Given the description of an element on the screen output the (x, y) to click on. 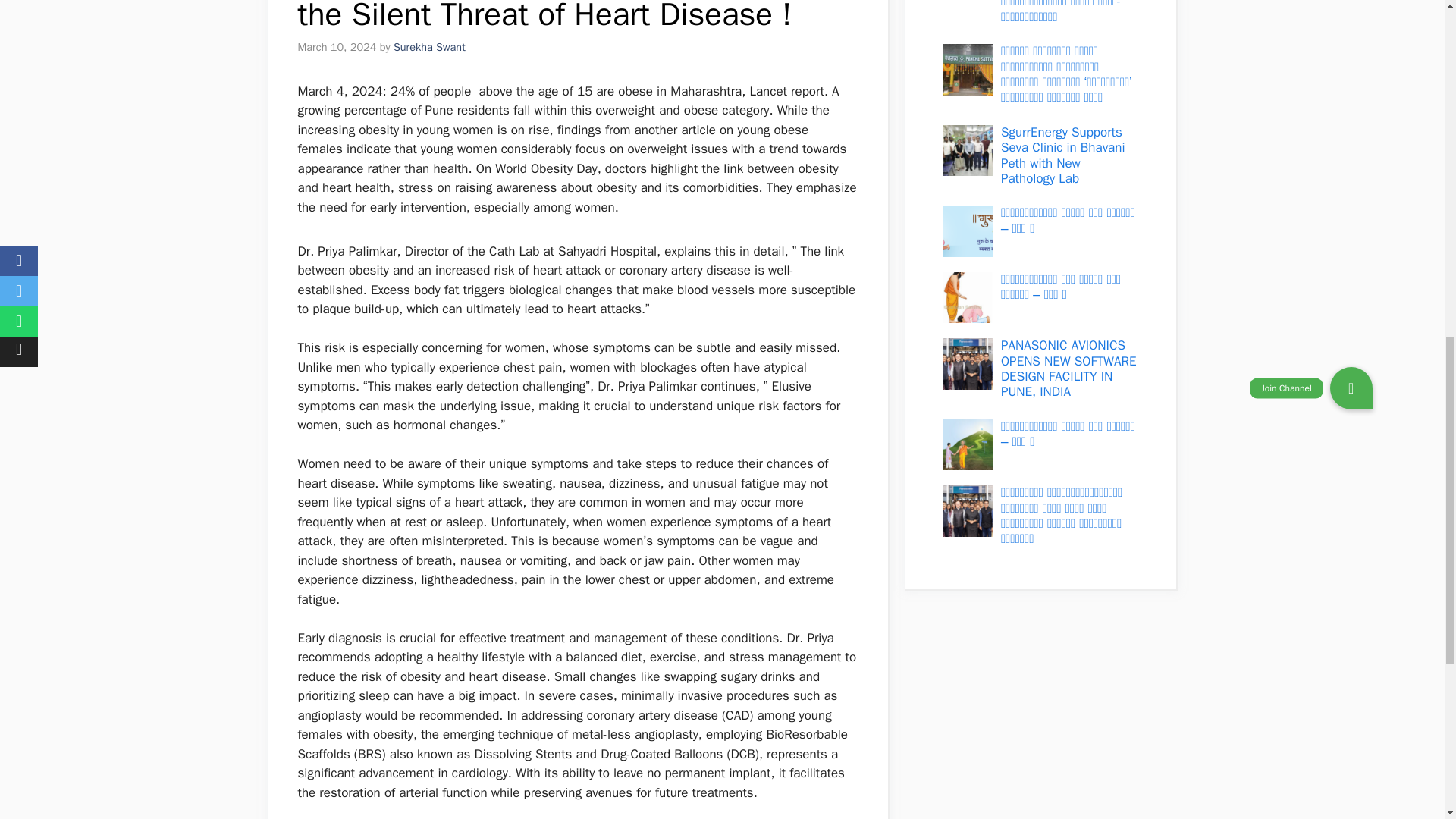
Surekha Swant (429, 47)
View all posts by Surekha Swant (429, 47)
